Given the description of an element on the screen output the (x, y) to click on. 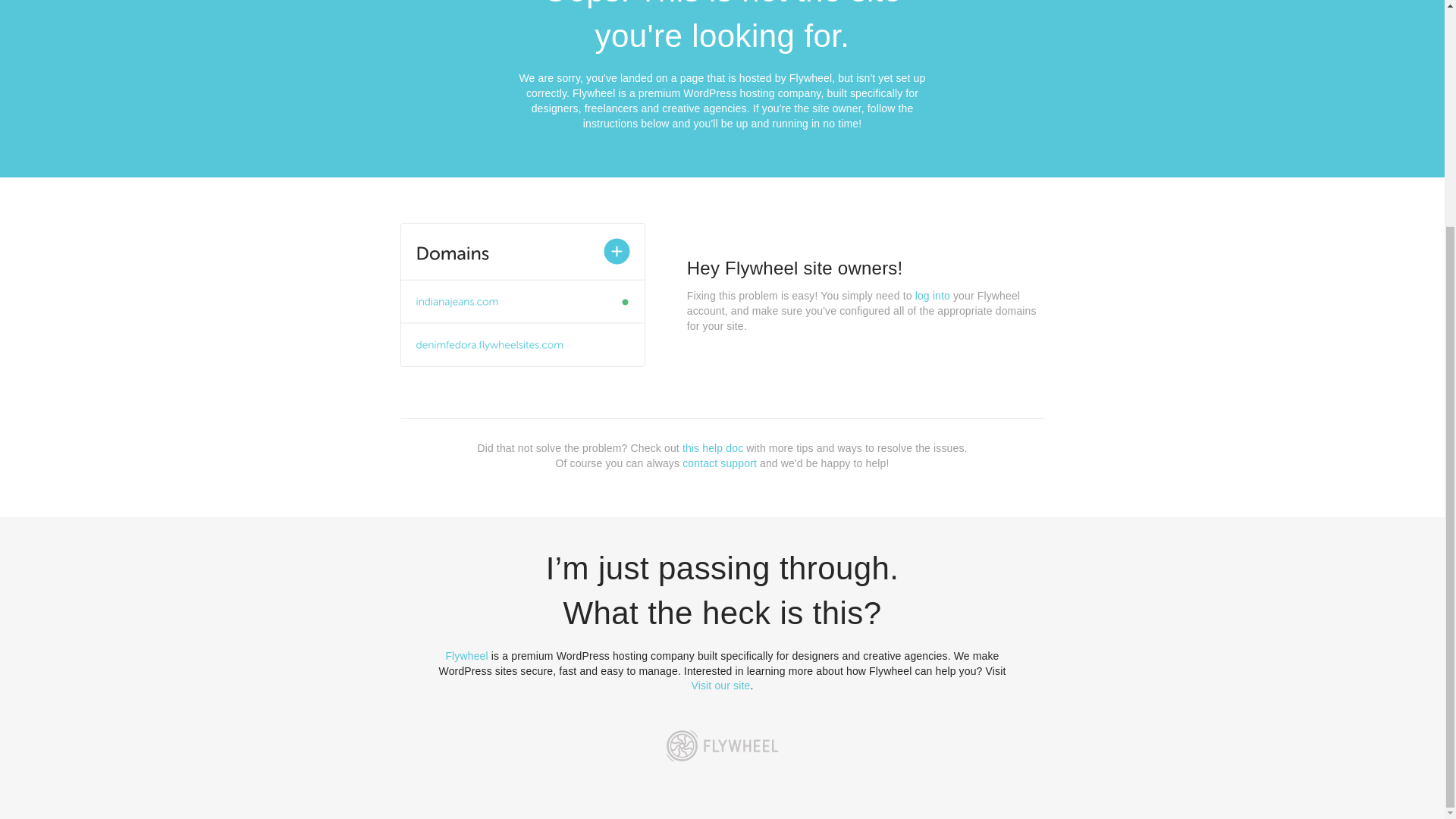
contact support (719, 463)
this help doc (712, 448)
log into (932, 295)
Visit our site (721, 685)
Flywheel (466, 655)
